Given the description of an element on the screen output the (x, y) to click on. 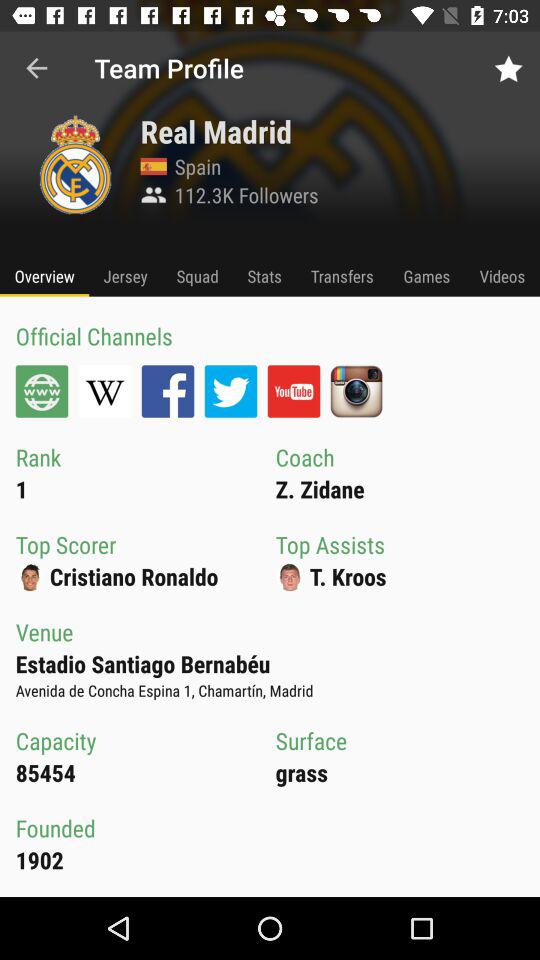
view on facebook (167, 391)
